Given the description of an element on the screen output the (x, y) to click on. 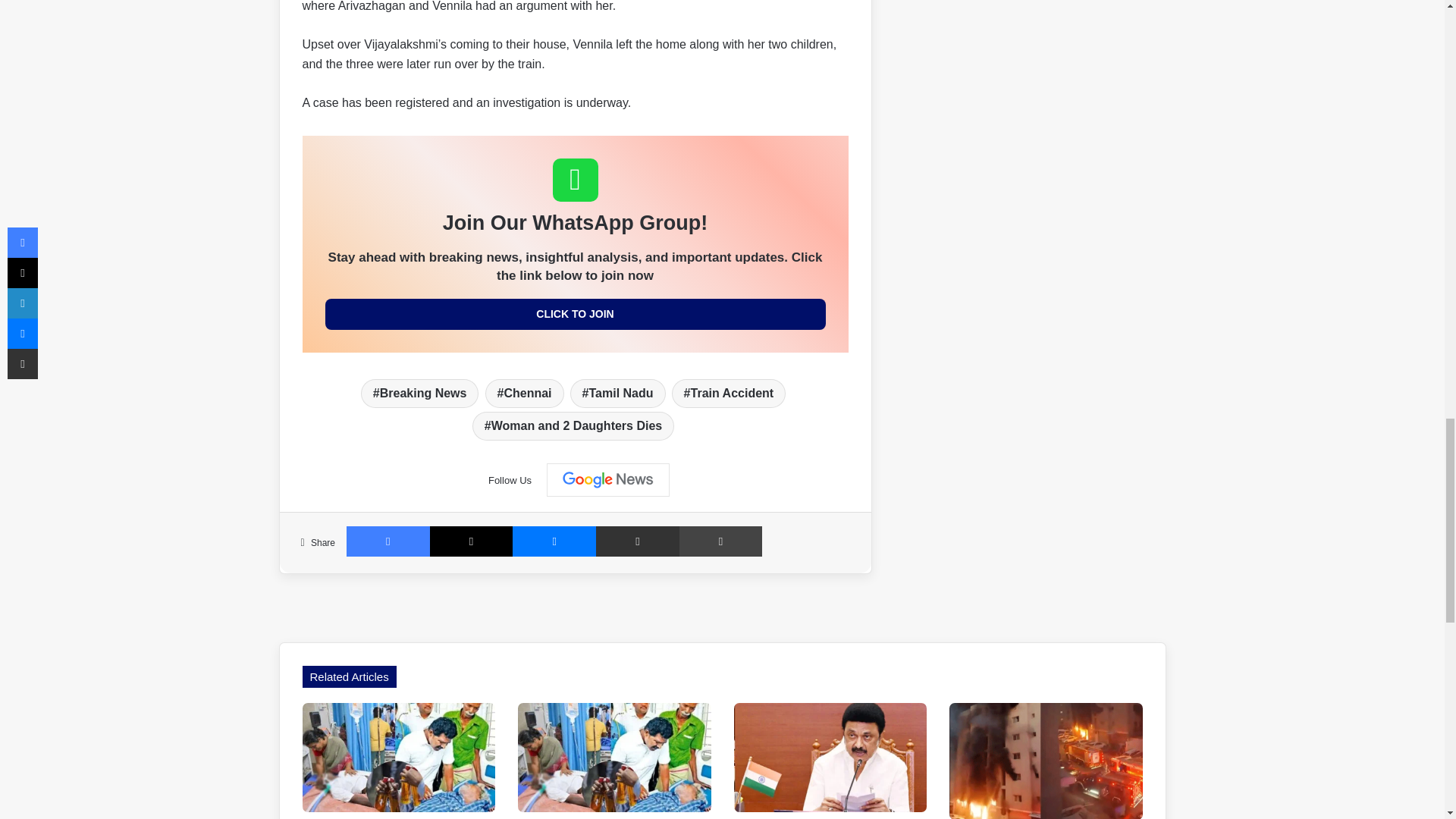
Share via Email (637, 541)
X (471, 541)
Google News (608, 479)
Messenger (553, 541)
Facebook (387, 541)
